Given the description of an element on the screen output the (x, y) to click on. 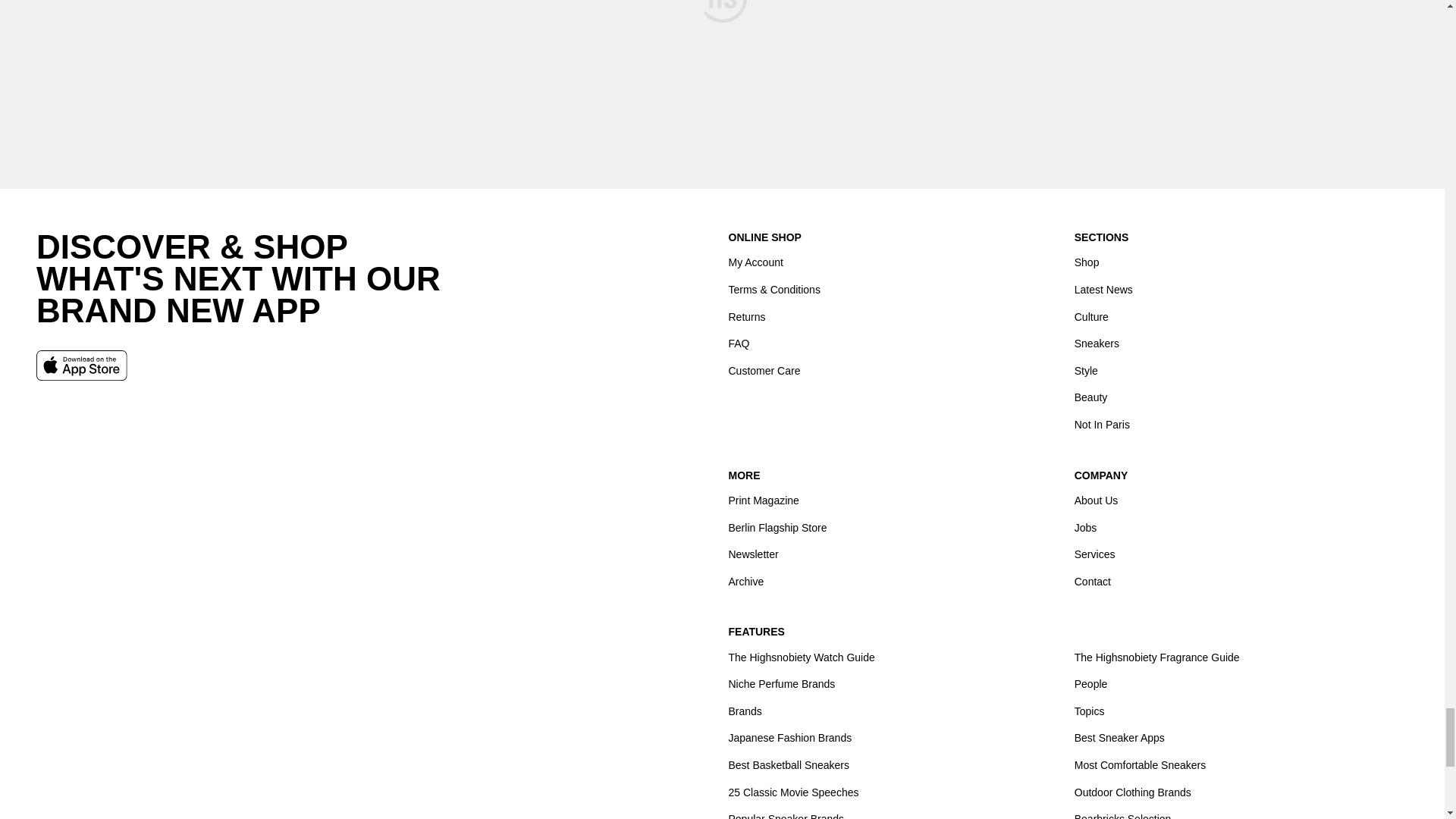
Returns (746, 317)
My Account (755, 262)
Sneakers (1096, 343)
Shop (1086, 262)
Culture (1091, 317)
Latest News (1103, 289)
Customer Care (763, 370)
FAQ (738, 343)
